Given the description of an element on the screen output the (x, y) to click on. 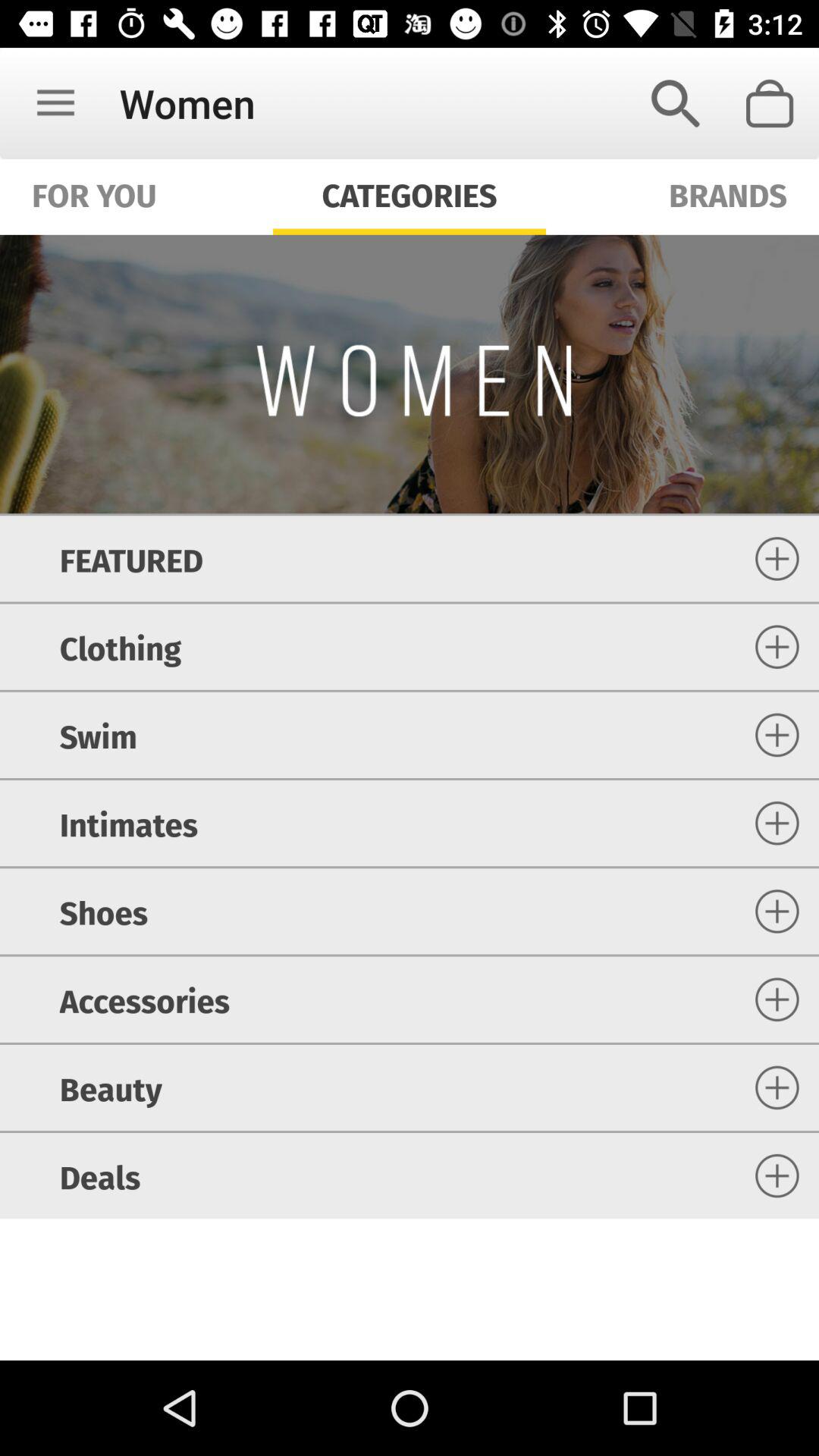
jump to featured item (131, 558)
